Given the description of an element on the screen output the (x, y) to click on. 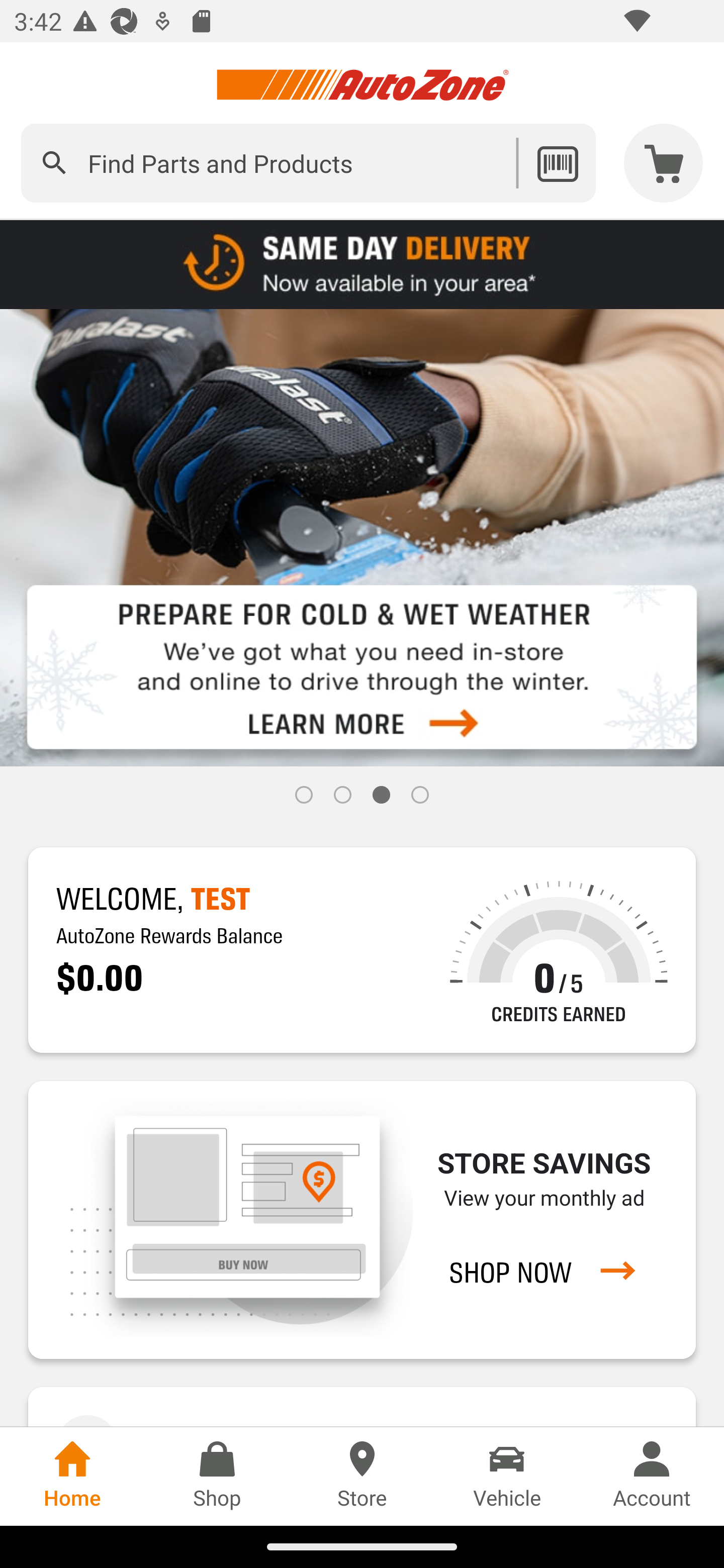
 scan-product-to-search  (557, 162)
 (54, 163)
Cart, no items  (663, 162)
Same Day Delivery - now available in your area* (362, 262)
Home (72, 1475)
Shop (216, 1475)
Store (361, 1475)
Vehicle (506, 1475)
Account (651, 1475)
